Given the description of an element on the screen output the (x, y) to click on. 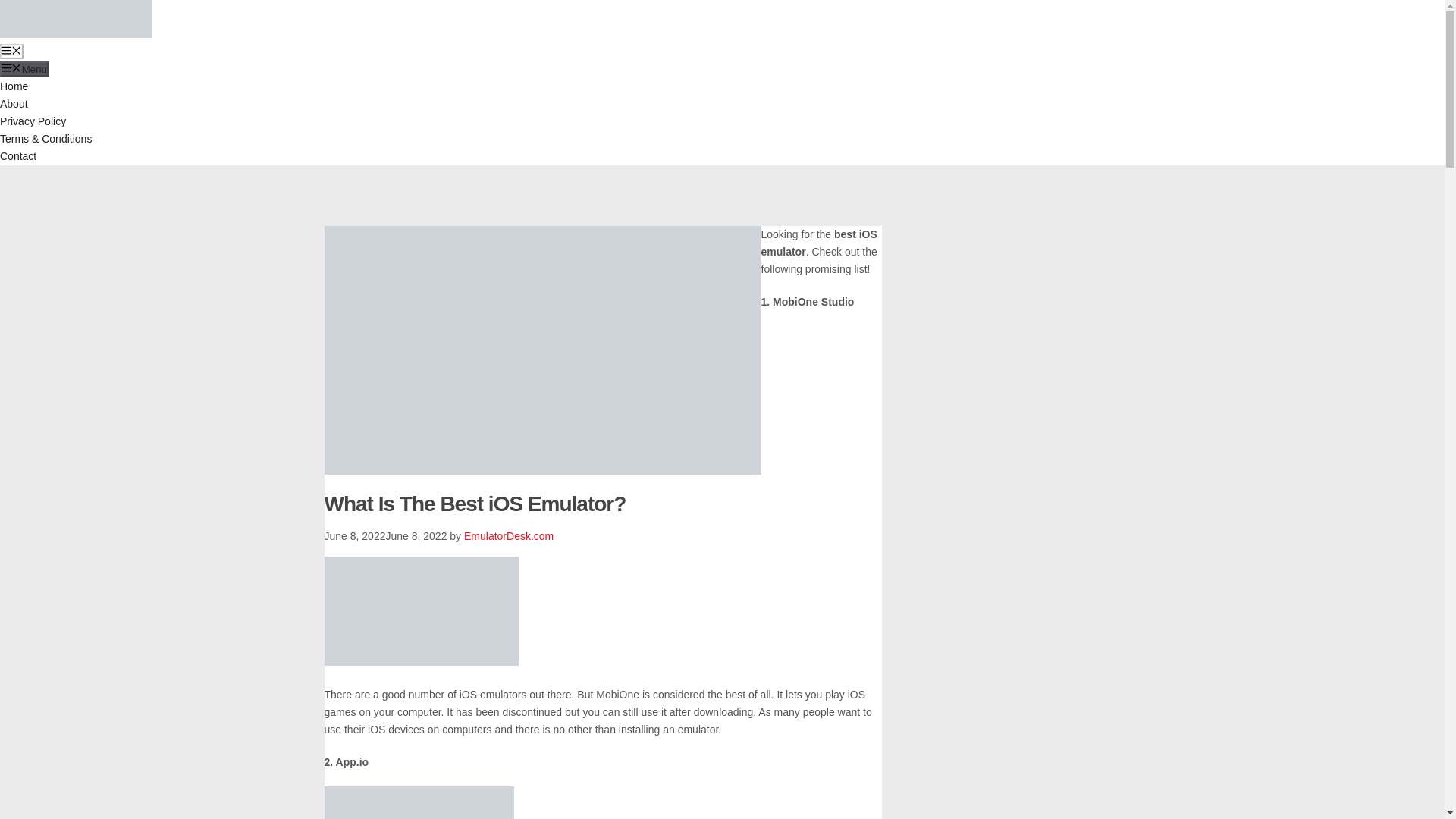
EmulatorDesk.com (508, 535)
Menu (11, 51)
Menu (24, 68)
Privacy Policy (32, 121)
Contact (18, 155)
Home (13, 86)
View all posts by EmulatorDesk.com (508, 535)
About (13, 103)
